Given the description of an element on the screen output the (x, y) to click on. 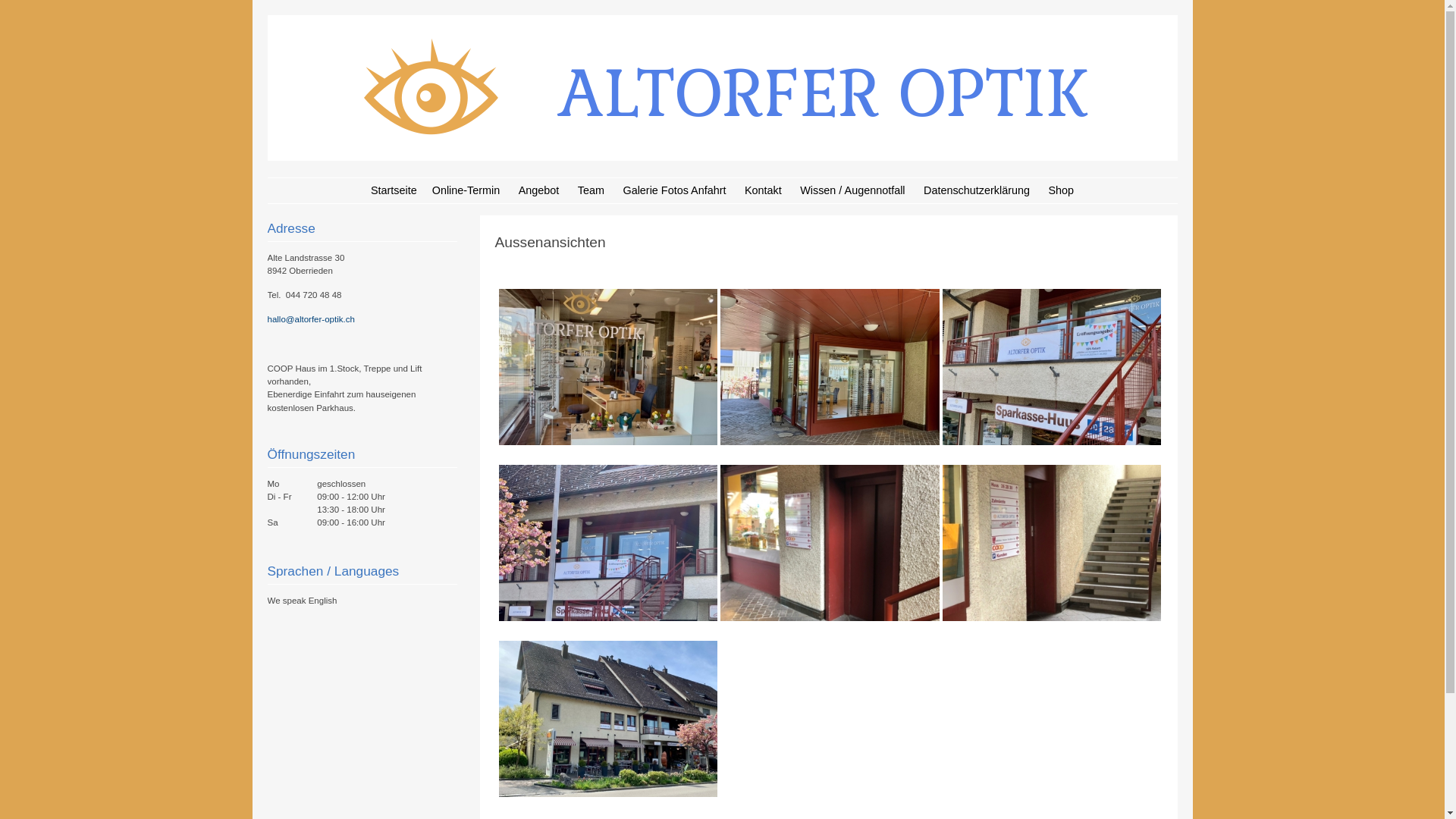
Wissen / Augennotfall Element type: text (852, 190)
  Element type: text (608, 374)
  Element type: text (1051, 374)
Galerie Fotos Anfahrt Element type: text (674, 190)
Altorfer Optik GmbH Element type: hover (721, 156)
Shop Element type: text (1060, 190)
  Element type: text (1051, 550)
  Element type: text (608, 726)
hallo@altorfer-optik.ch Element type: text (310, 318)
  Element type: text (829, 550)
Team Element type: text (590, 190)
Online-Termin Element type: text (466, 190)
Startseite Element type: text (393, 190)
ALTORFER OPTIK GMBH Element type: text (373, 174)
  Element type: text (608, 550)
  Element type: text (829, 374)
Kontakt Element type: text (763, 190)
Angebot Element type: text (539, 190)
Zum Inhalt springen Element type: text (322, 190)
